Given the description of an element on the screen output the (x, y) to click on. 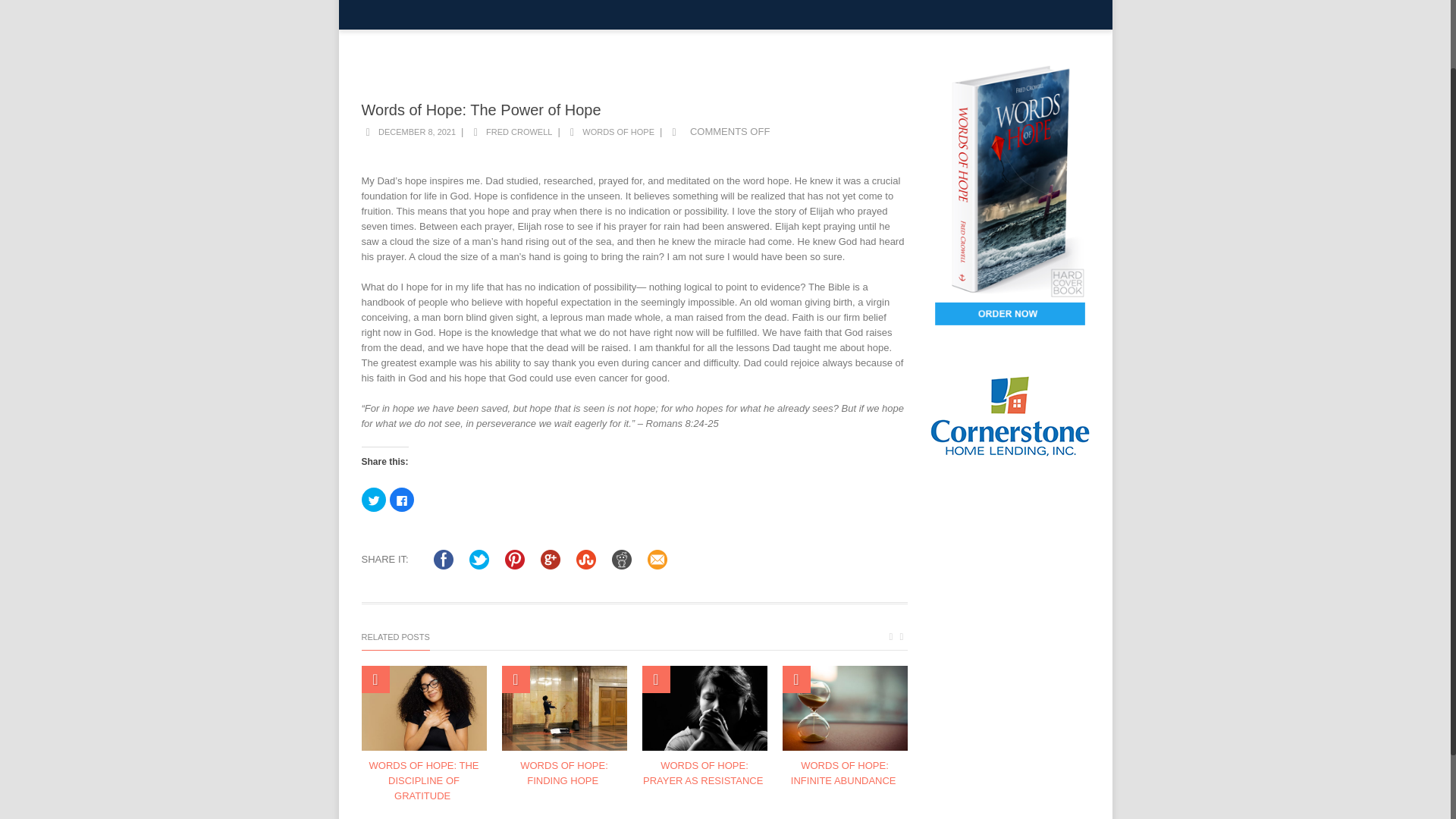
Share on Facebook (442, 559)
WORDS OF HOPE (971, 14)
Share on Google Plus (550, 559)
Crowell University (403, 14)
Pin on Pinterest (514, 559)
Share on StumbleUpon (585, 559)
SHOP (1061, 14)
BASKETBALL (863, 14)
